Given the description of an element on the screen output the (x, y) to click on. 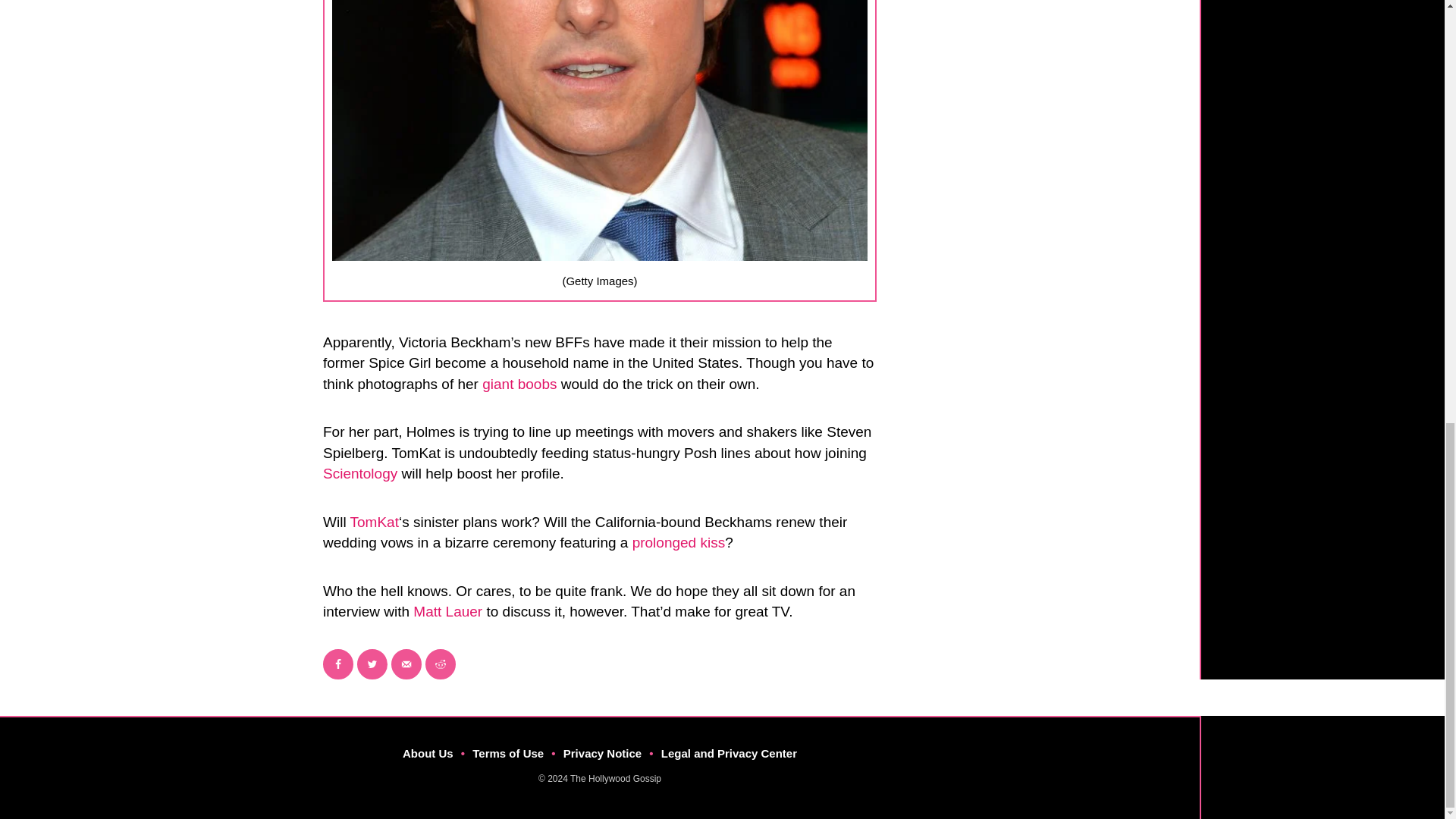
Share on Facebook (338, 664)
Share on Twitter (371, 664)
Share on Reddit (440, 664)
Send over email (406, 664)
